Given the description of an element on the screen output the (x, y) to click on. 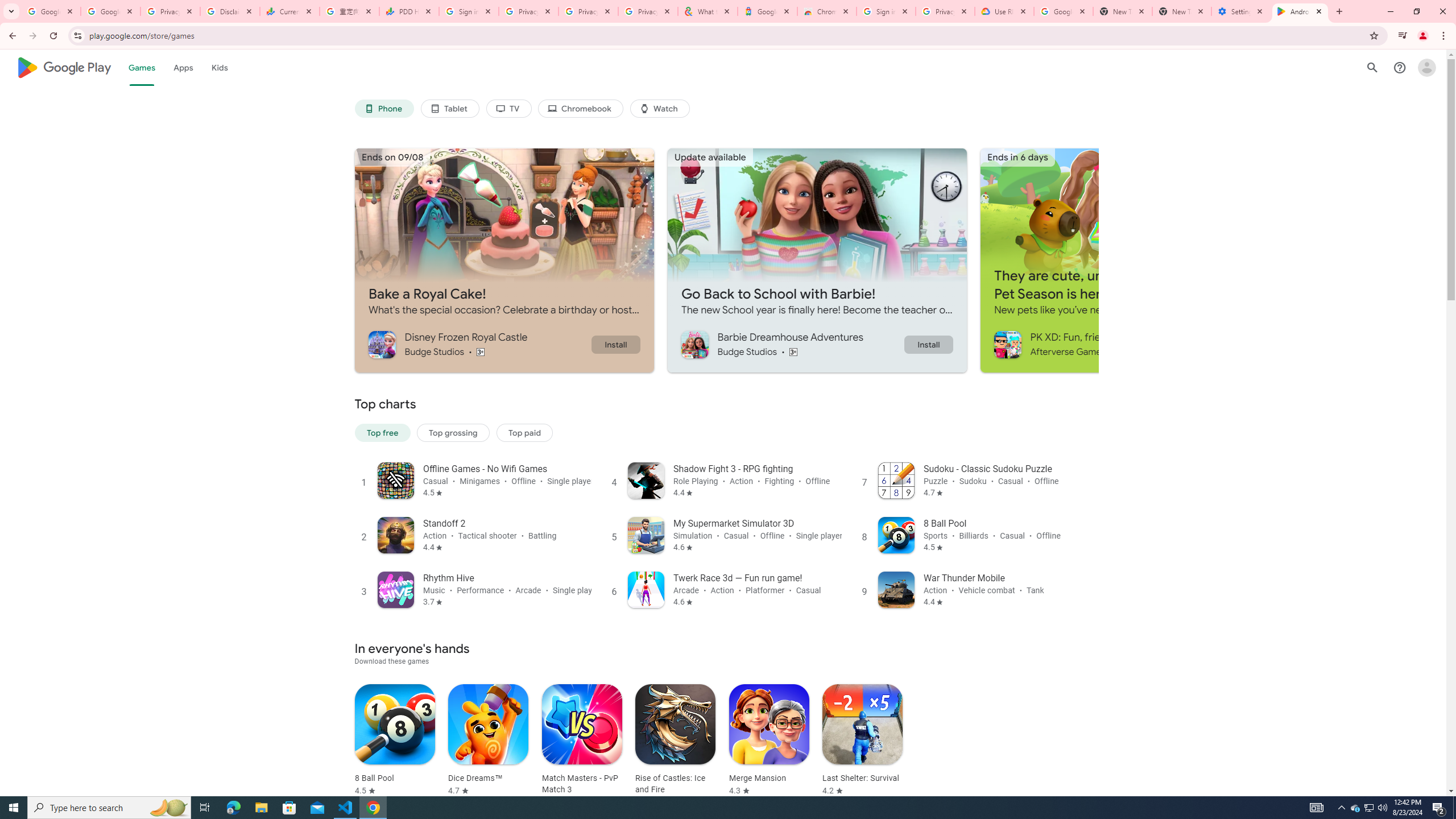
Google Workspace Admin Community (50, 11)
Games (141, 67)
